Given the description of an element on the screen output the (x, y) to click on. 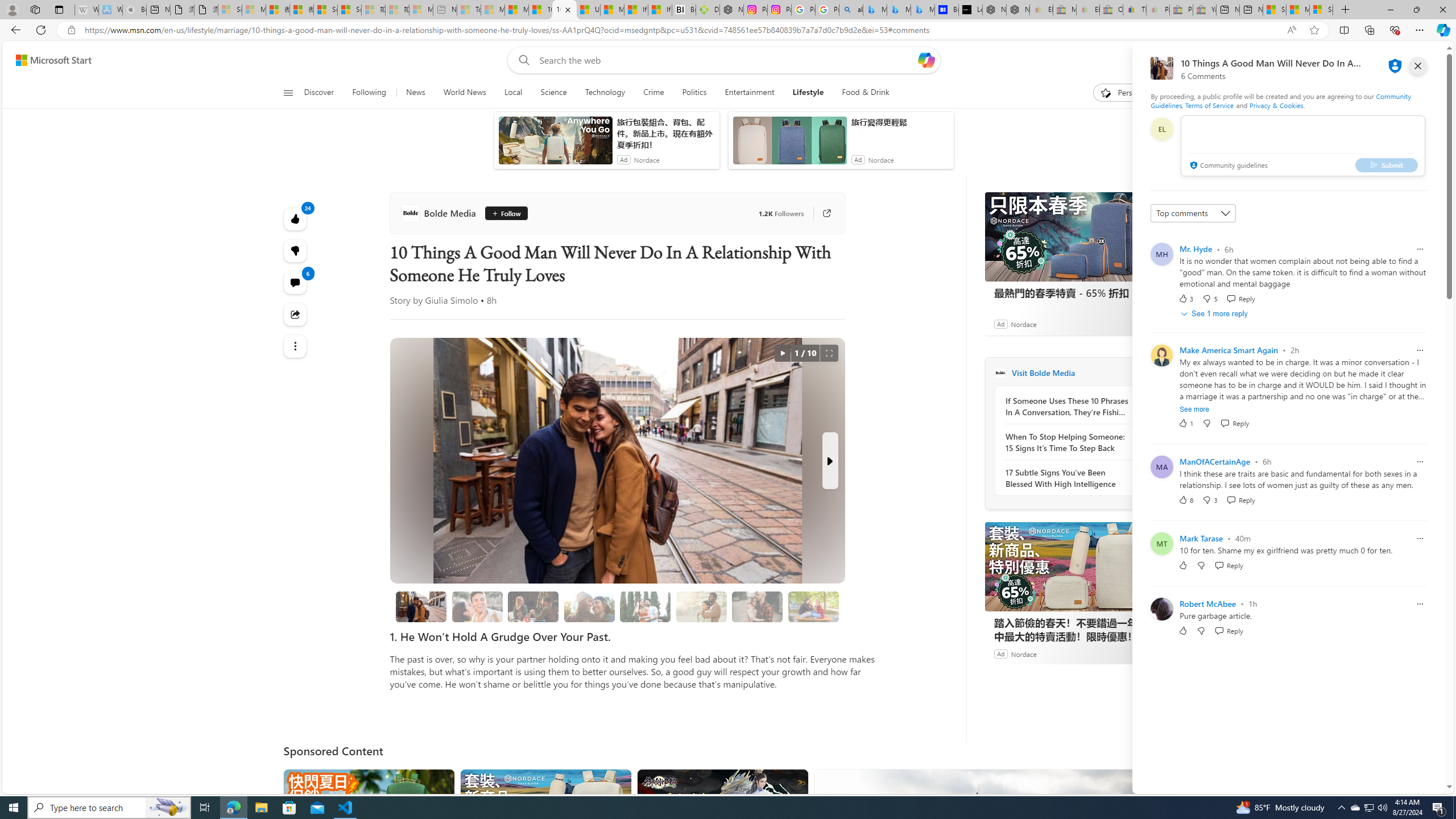
Class: button-glyph (287, 92)
Skip to content (49, 59)
World News (464, 92)
Nordace - Nordace Edin Collection (731, 9)
Buy iPad - Apple - Sleeping (134, 9)
Ad (999, 653)
Visit Bolde Media website (1140, 372)
US Heat Deaths Soared To Record High Last Year (588, 9)
Microsoft Start (1297, 9)
Class: at-item (295, 345)
